Given the description of an element on the screen output the (x, y) to click on. 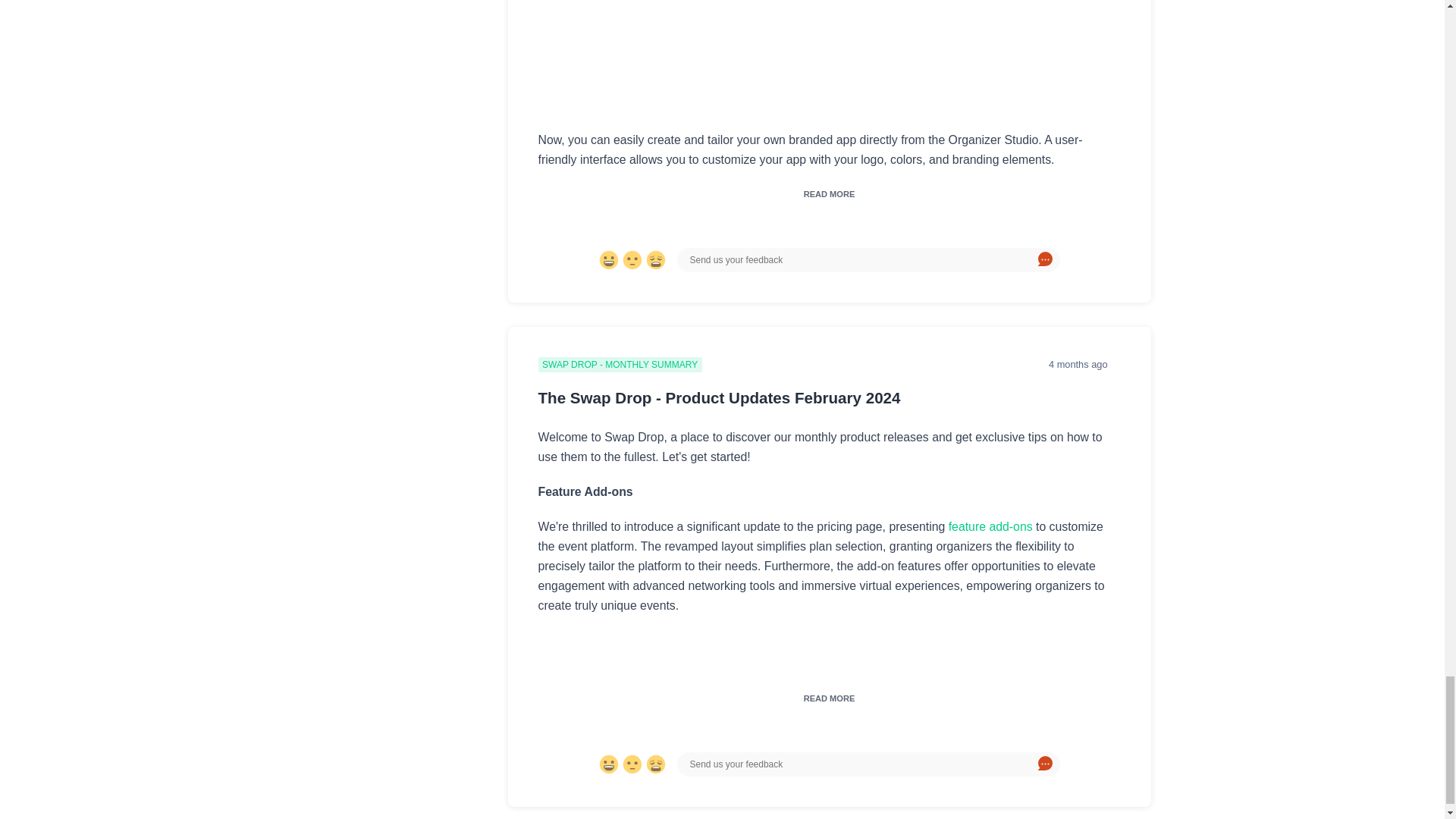
Submit Button (1044, 764)
Submit Button (1044, 259)
